Given the description of an element on the screen output the (x, y) to click on. 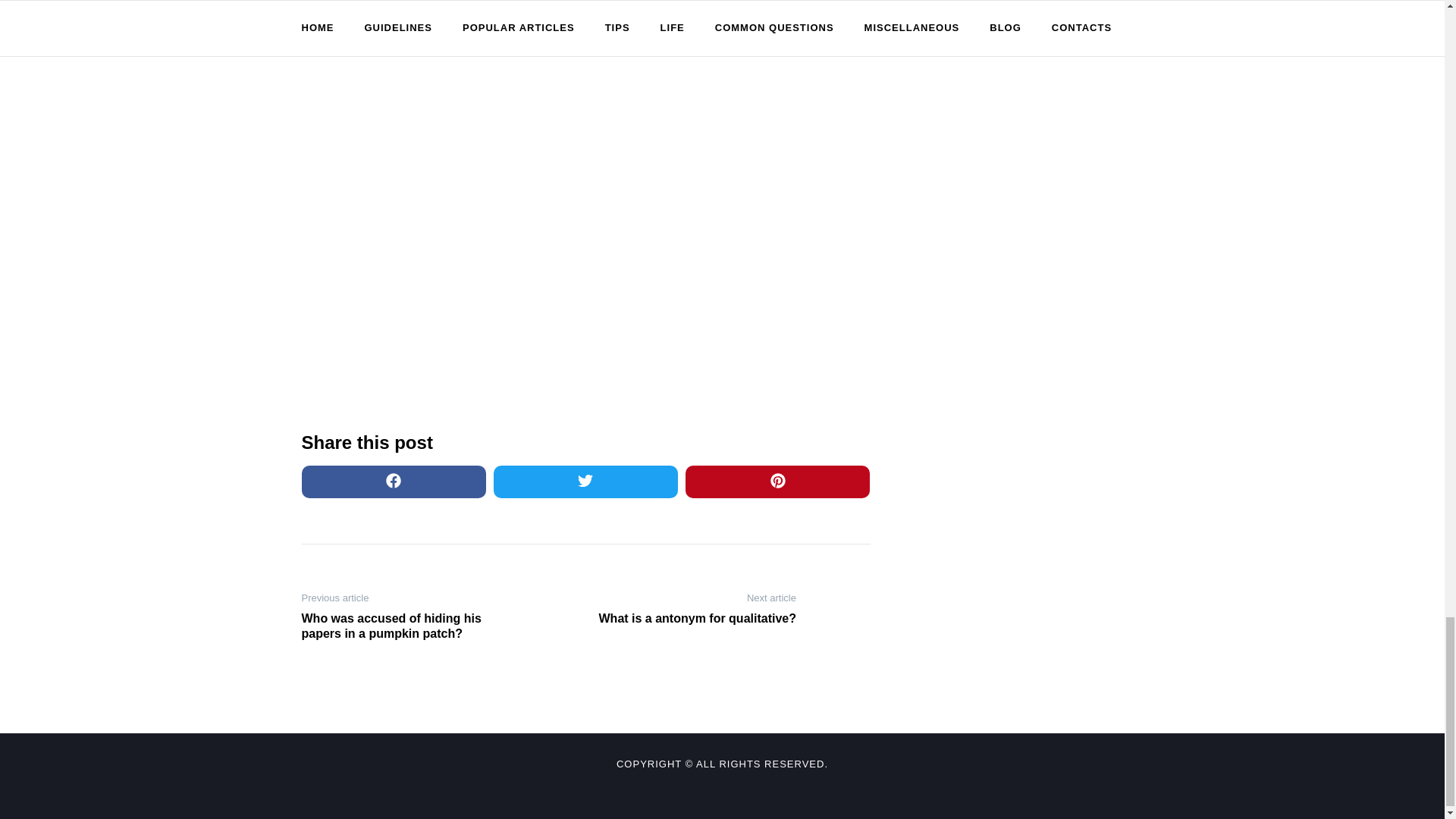
Who was accused of hiding his papers in a pumpkin patch? (400, 626)
What is a antonym for qualitative? (696, 618)
